Given the description of an element on the screen output the (x, y) to click on. 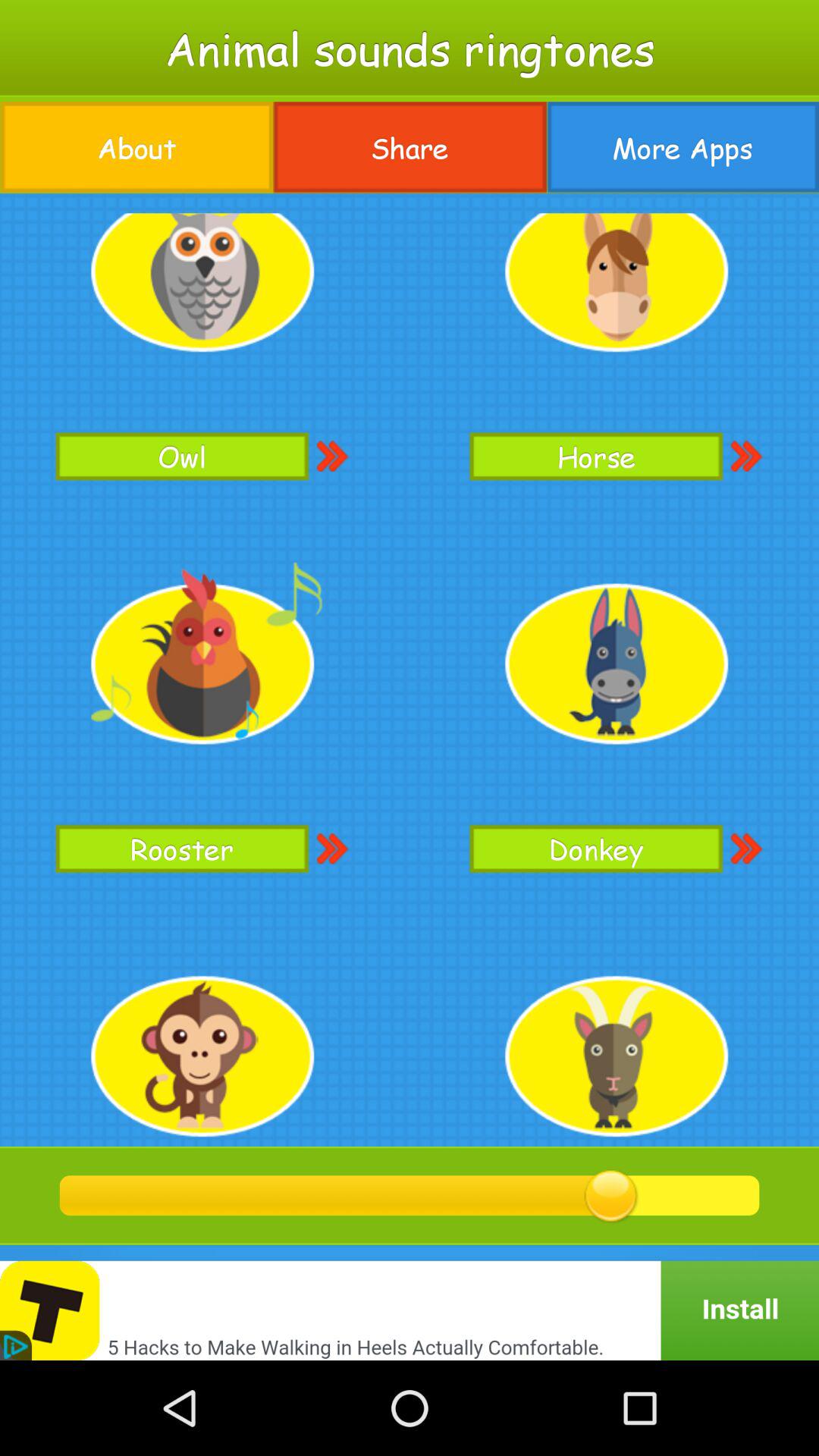
swipe to the about item (136, 147)
